Given the description of an element on the screen output the (x, y) to click on. 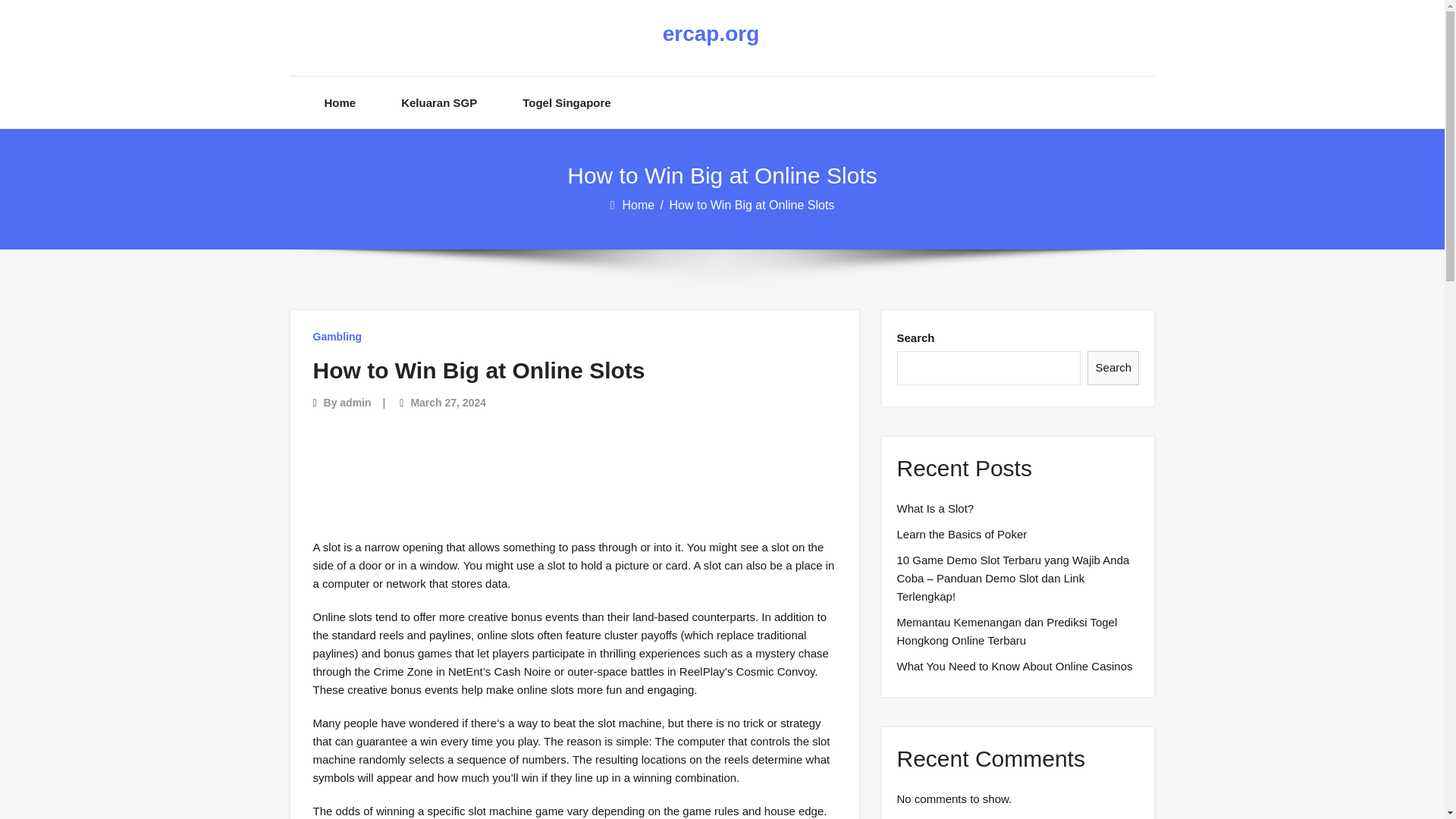
admin (355, 402)
Home (638, 205)
Togel Singapore (566, 102)
What You Need to Know About Online Casinos (1014, 666)
Learn the Basics of Poker (961, 534)
Search (1112, 367)
ercap.org (710, 34)
What Is a Slot? (935, 508)
Gambling (337, 336)
Keluaran SGP (439, 102)
March 27, 2024 (448, 402)
